Given the description of an element on the screen output the (x, y) to click on. 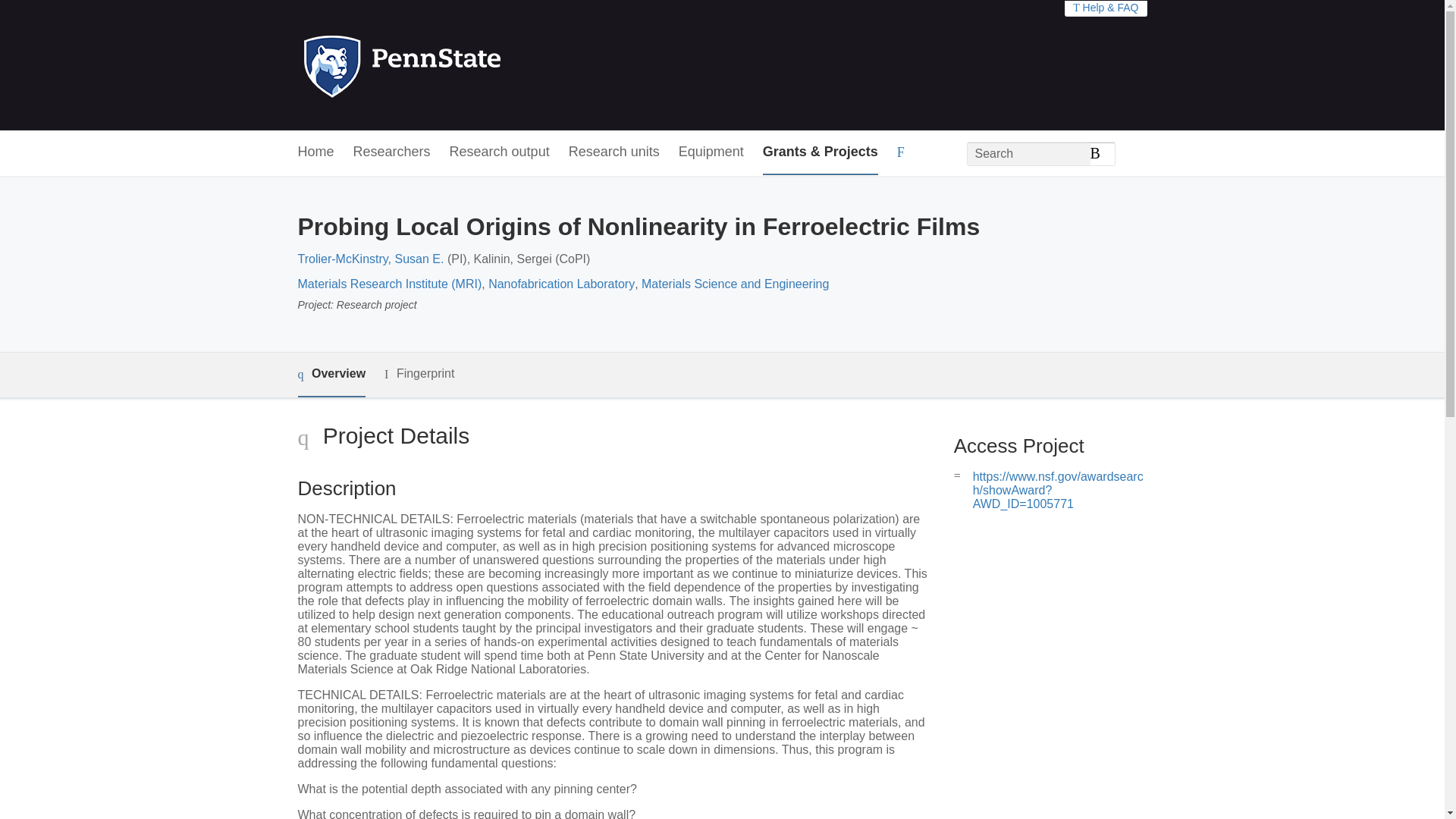
Research units (614, 152)
Materials Science and Engineering (735, 283)
Overview (331, 374)
Research output (499, 152)
Fingerprint (419, 373)
Trolier-McKinstry, Susan E. (370, 258)
Equipment (711, 152)
Penn State Home (467, 65)
Nanofabrication Laboratory (560, 283)
Researchers (391, 152)
